Given the description of an element on the screen output the (x, y) to click on. 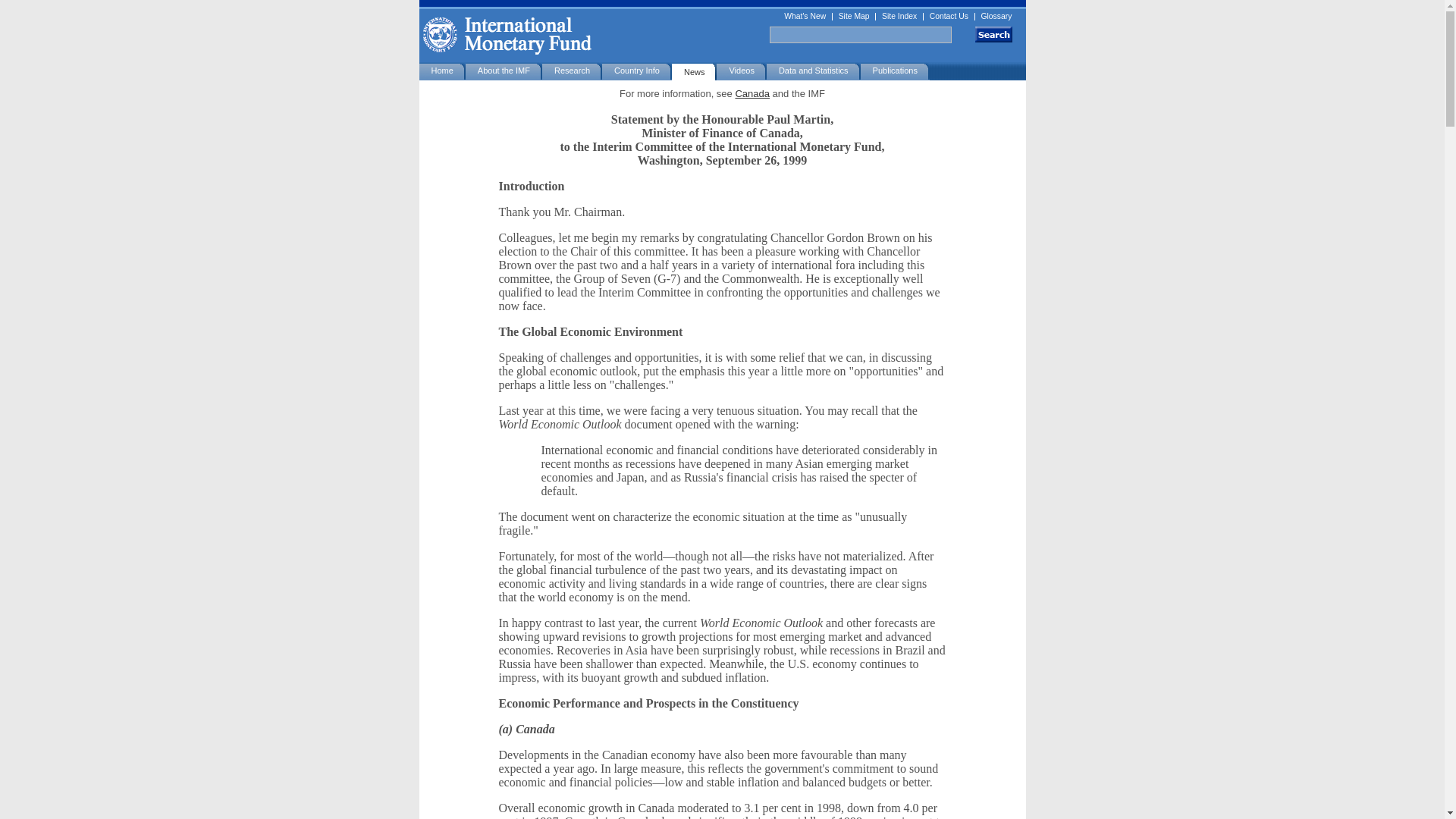
Data and Statistic (813, 70)
Videos (740, 70)
Publications (895, 70)
About the IMF (503, 70)
International Monetary Fund (724, 36)
Canada (752, 93)
About the IMF (503, 70)
Home (441, 70)
Research (571, 70)
Country Info (636, 70)
